Given the description of an element on the screen output the (x, y) to click on. 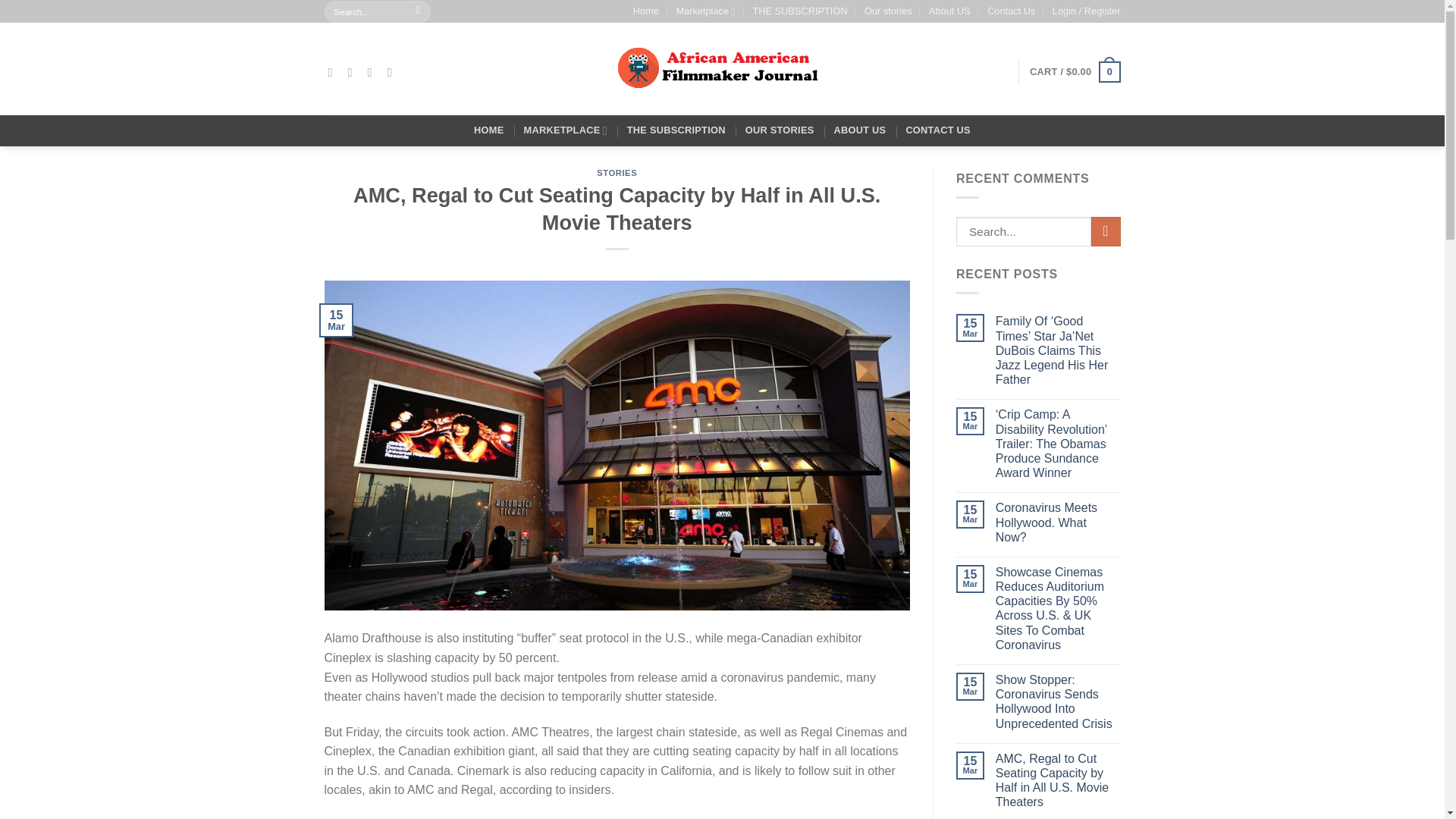
HOME (488, 130)
Marketplace (705, 11)
THE SUBSCRIPTION (799, 11)
Home (646, 11)
Our stories (888, 11)
CONTACT US (938, 130)
About US (949, 11)
MARKETPLACE (565, 130)
Follow on Instagram (353, 71)
STORIES (616, 172)
OUR STORIES (779, 130)
THE SUBSCRIPTION (676, 130)
Follow on Twitter (374, 71)
Contact Us (1011, 11)
